Given the description of an element on the screen output the (x, y) to click on. 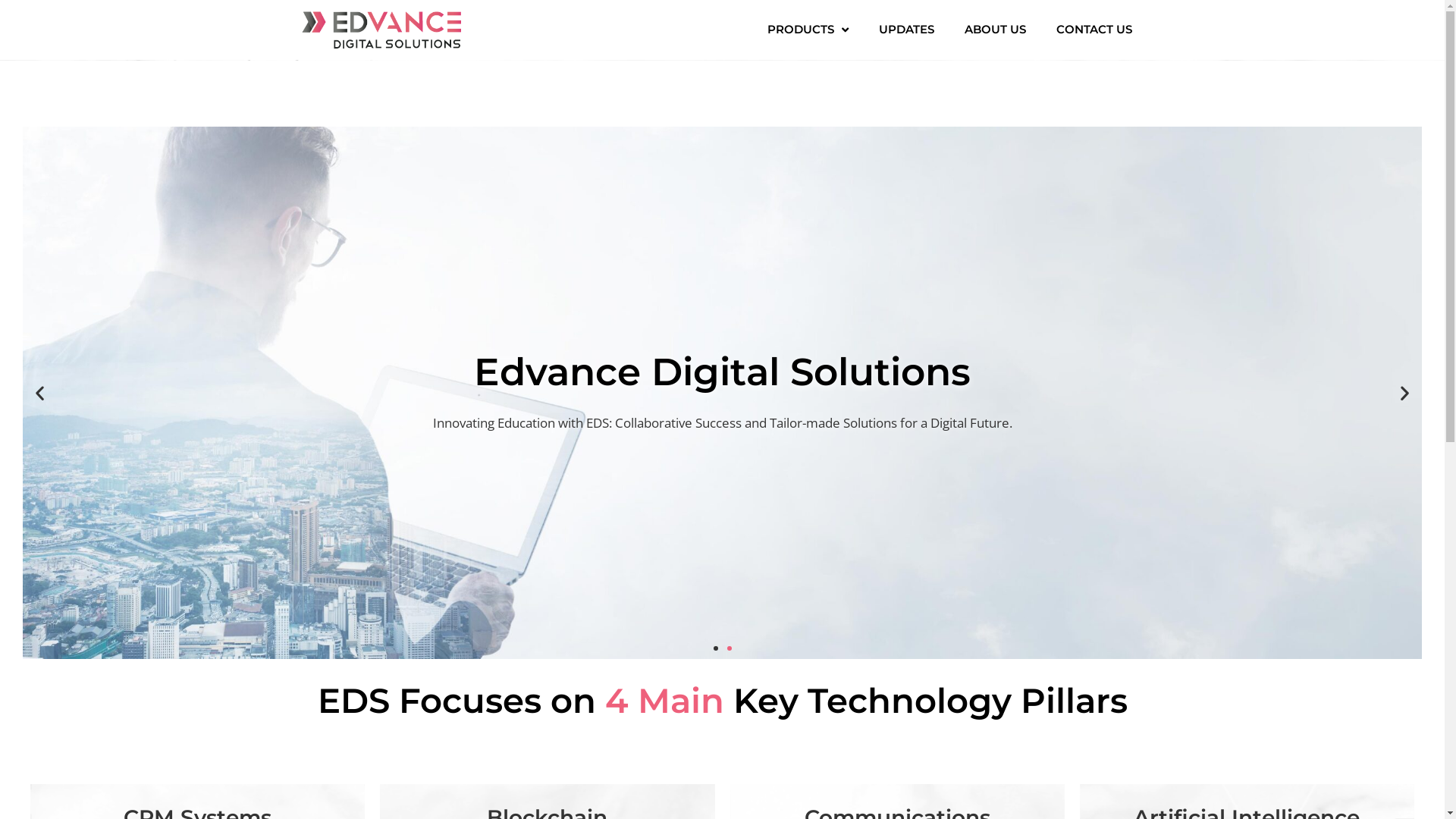
PRODUCTS Element type: text (807, 29)
ABOUT US Element type: text (994, 29)
CONTACT US Element type: text (1093, 29)
UPDATES Element type: text (906, 29)
